Given the description of an element on the screen output the (x, y) to click on. 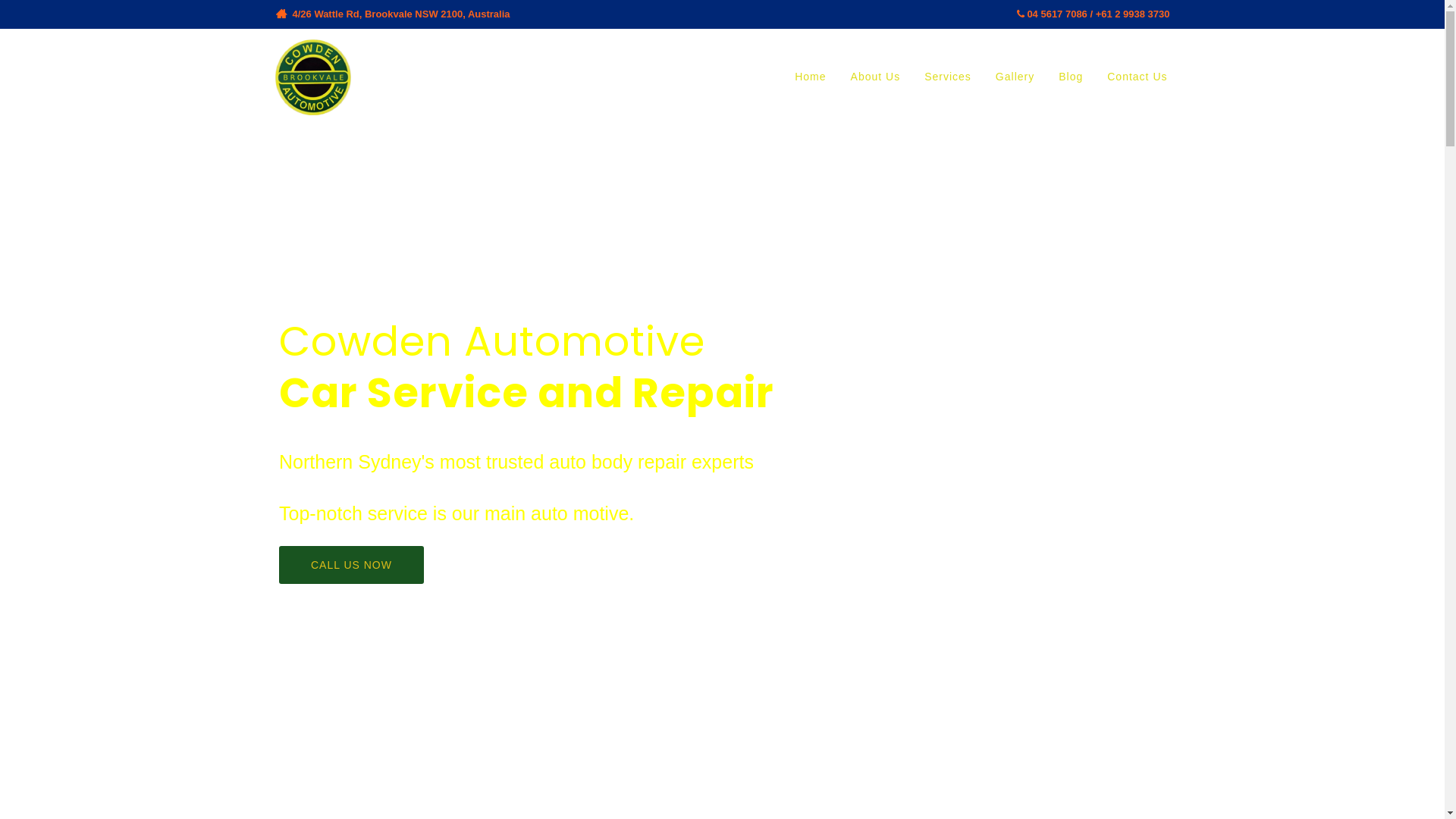
Gallery Element type: text (1014, 76)
Home Element type: text (809, 76)
+61 2 9938 3730 Element type: text (1132, 13)
04 5617 7086 Element type: text (1056, 13)
CALL US NOW Element type: text (351, 564)
Blog Element type: text (1070, 76)
About Us Element type: text (875, 76)
Services Element type: text (947, 76)
Contact Us Element type: text (1137, 76)
